Given the description of an element on the screen output the (x, y) to click on. 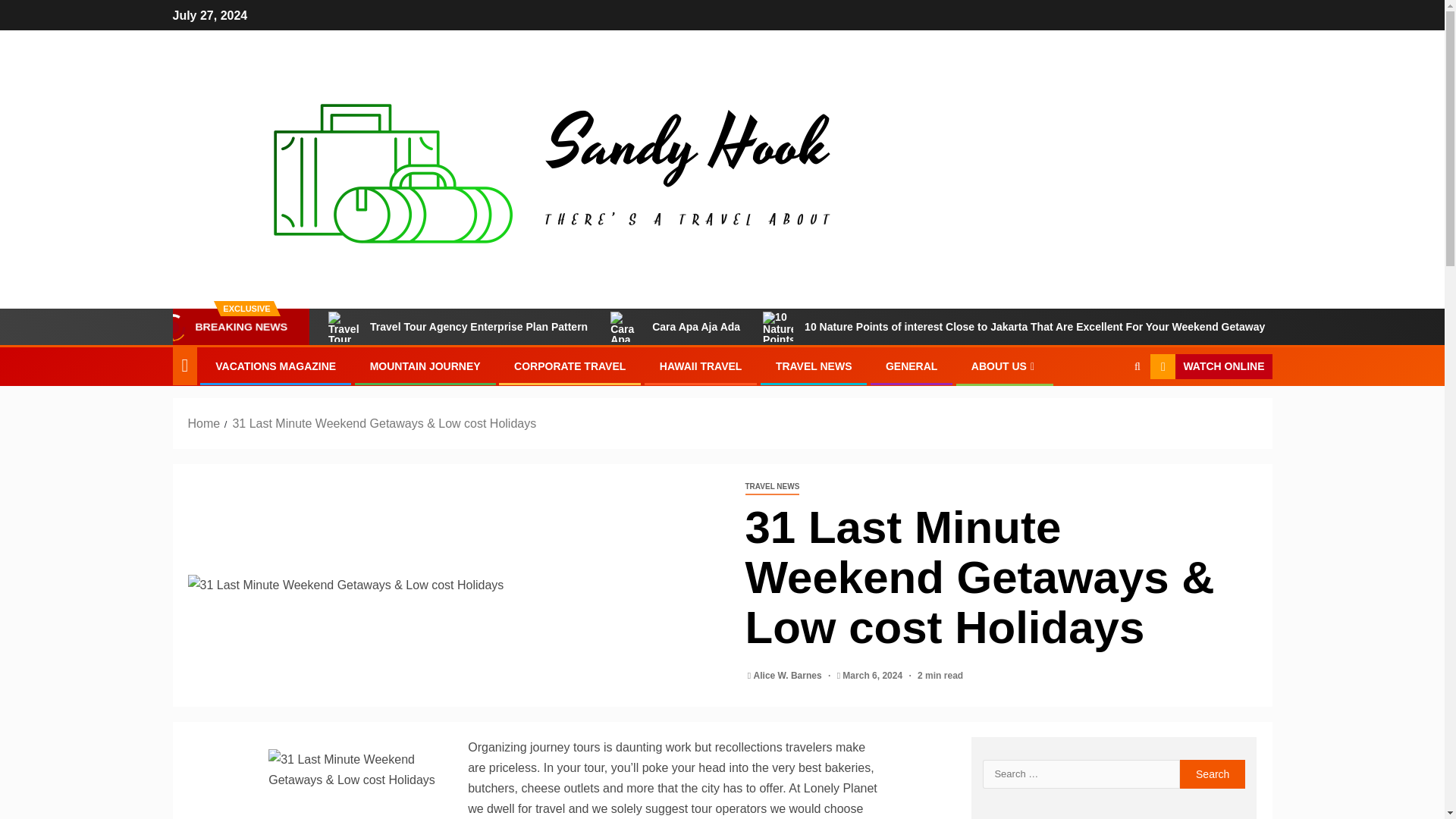
VACATIONS MAGAZINE (275, 366)
Search (1107, 412)
TRAVEL NEWS (813, 366)
CORPORATE TRAVEL (569, 366)
Cara Apa Aja Ada (674, 327)
Search (1212, 774)
Travel Tour Agency Enterprise Plan Pattern (457, 327)
GENERAL (911, 366)
TRAVEL NEWS (771, 487)
WATCH ONLINE (1210, 366)
Search (1212, 774)
MOUNTAIN JOURNEY (424, 366)
Alice W. Barnes (789, 675)
HAWAII TRAVEL (700, 366)
